Given the description of an element on the screen output the (x, y) to click on. 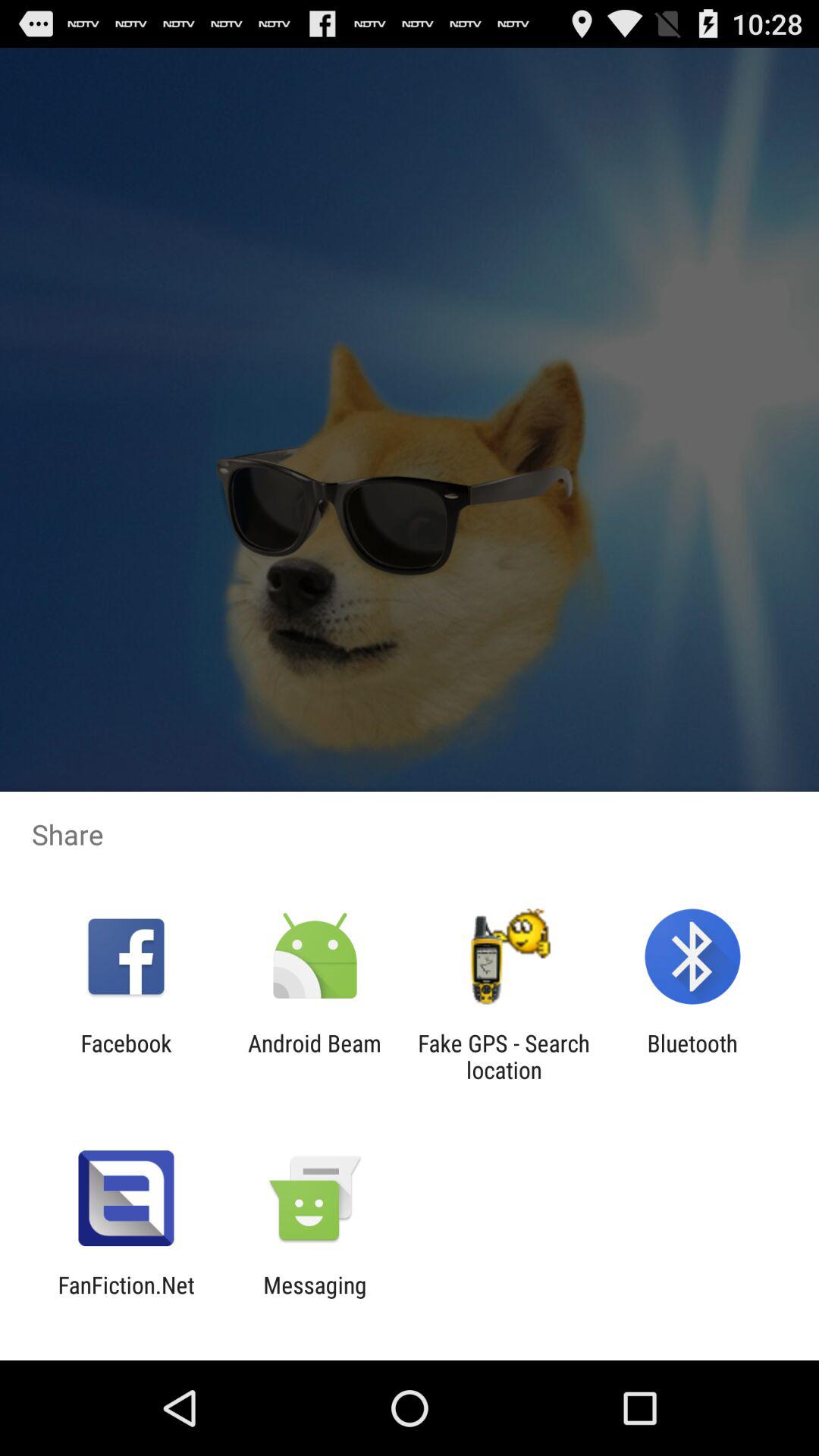
scroll until facebook item (125, 1056)
